Given the description of an element on the screen output the (x, y) to click on. 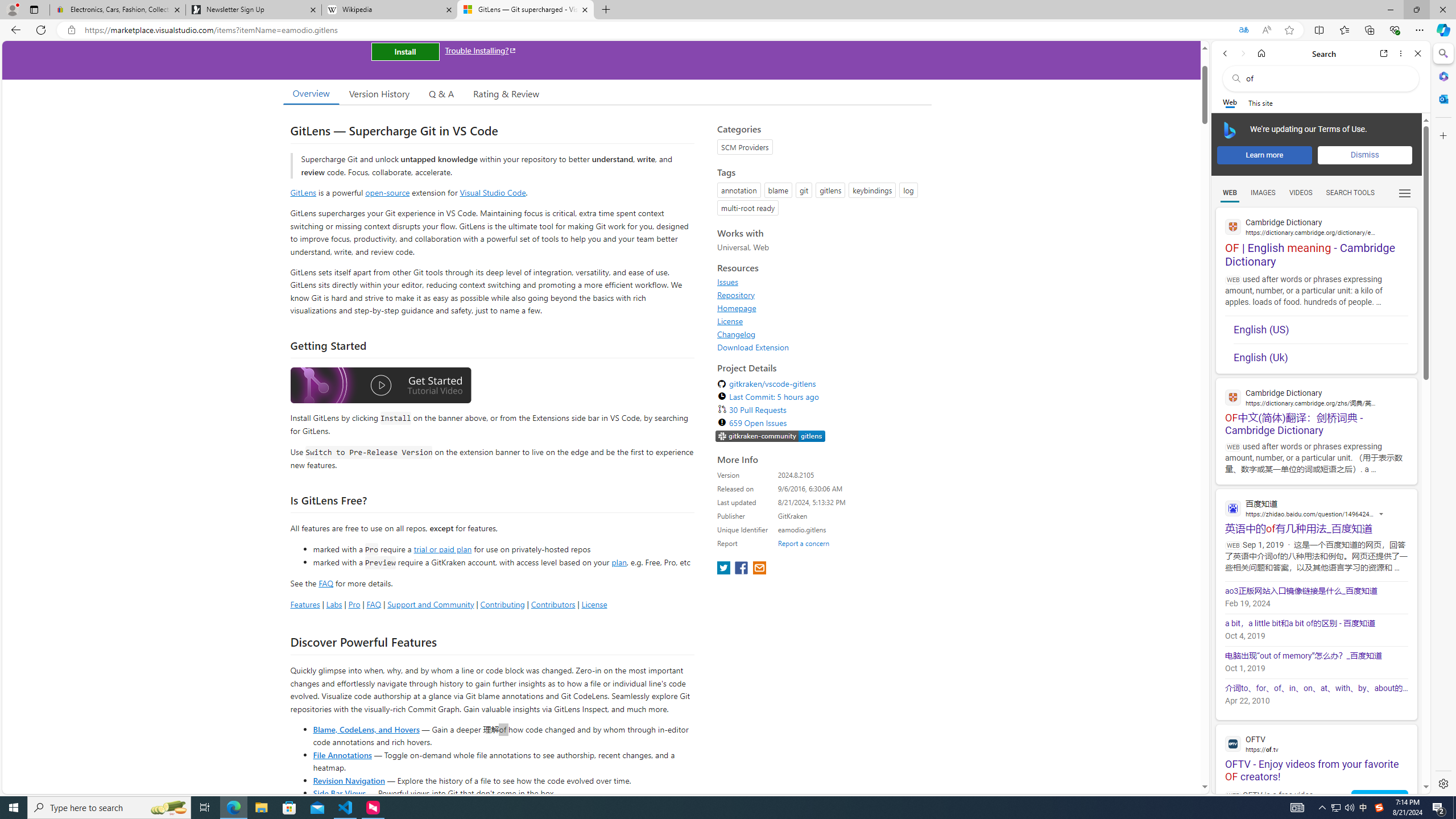
Repository (820, 294)
Open link in new tab (1383, 53)
Labs (334, 603)
Q & A (441, 92)
WEB   (1230, 192)
Search the web (1326, 78)
FAQ (373, 603)
Pro (354, 603)
Search Filter, WEB (1230, 192)
Watch the GitLens Getting Started video (380, 385)
